Given the description of an element on the screen output the (x, y) to click on. 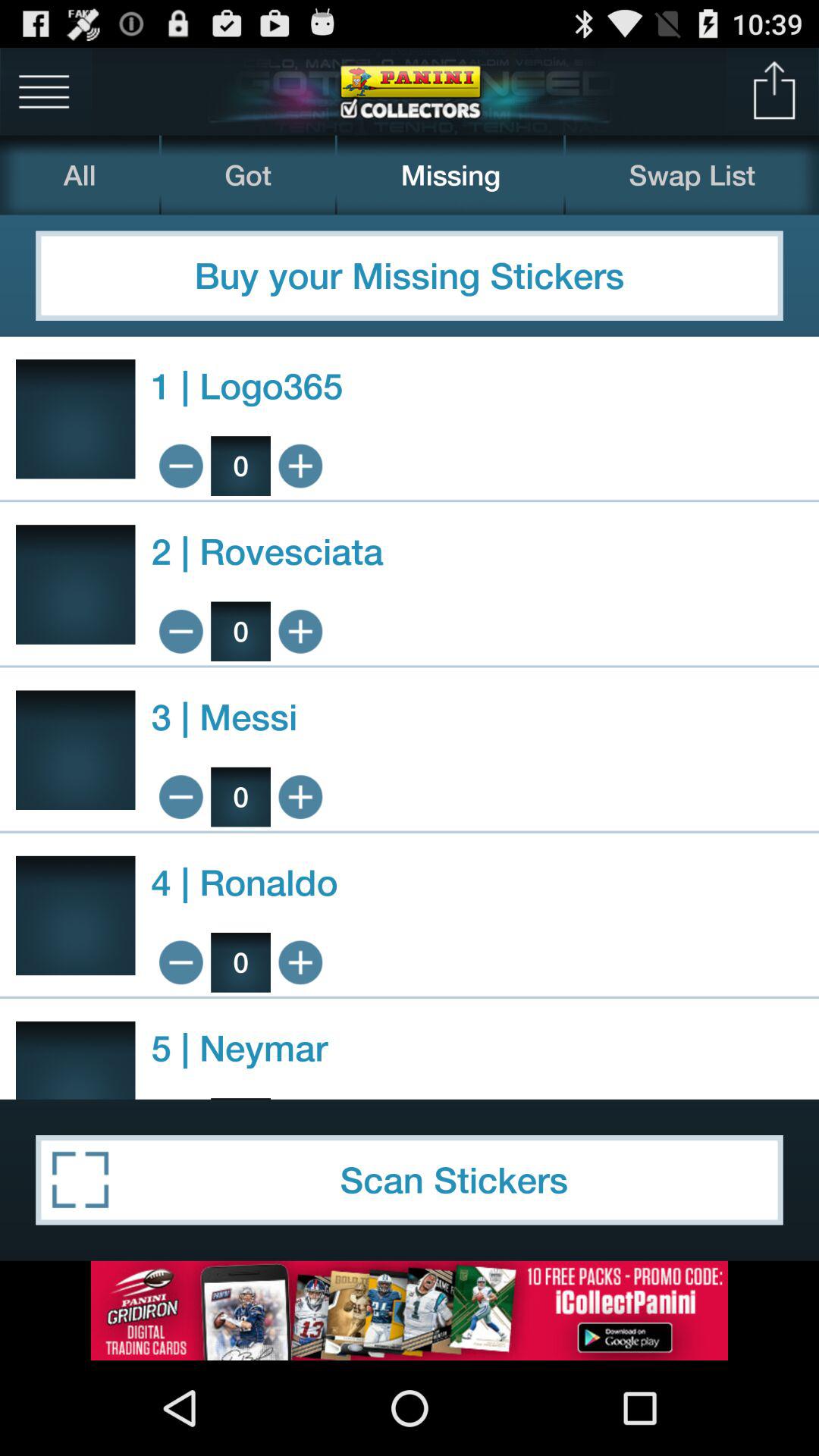
add 1 ronaldo (300, 962)
